Given the description of an element on the screen output the (x, y) to click on. 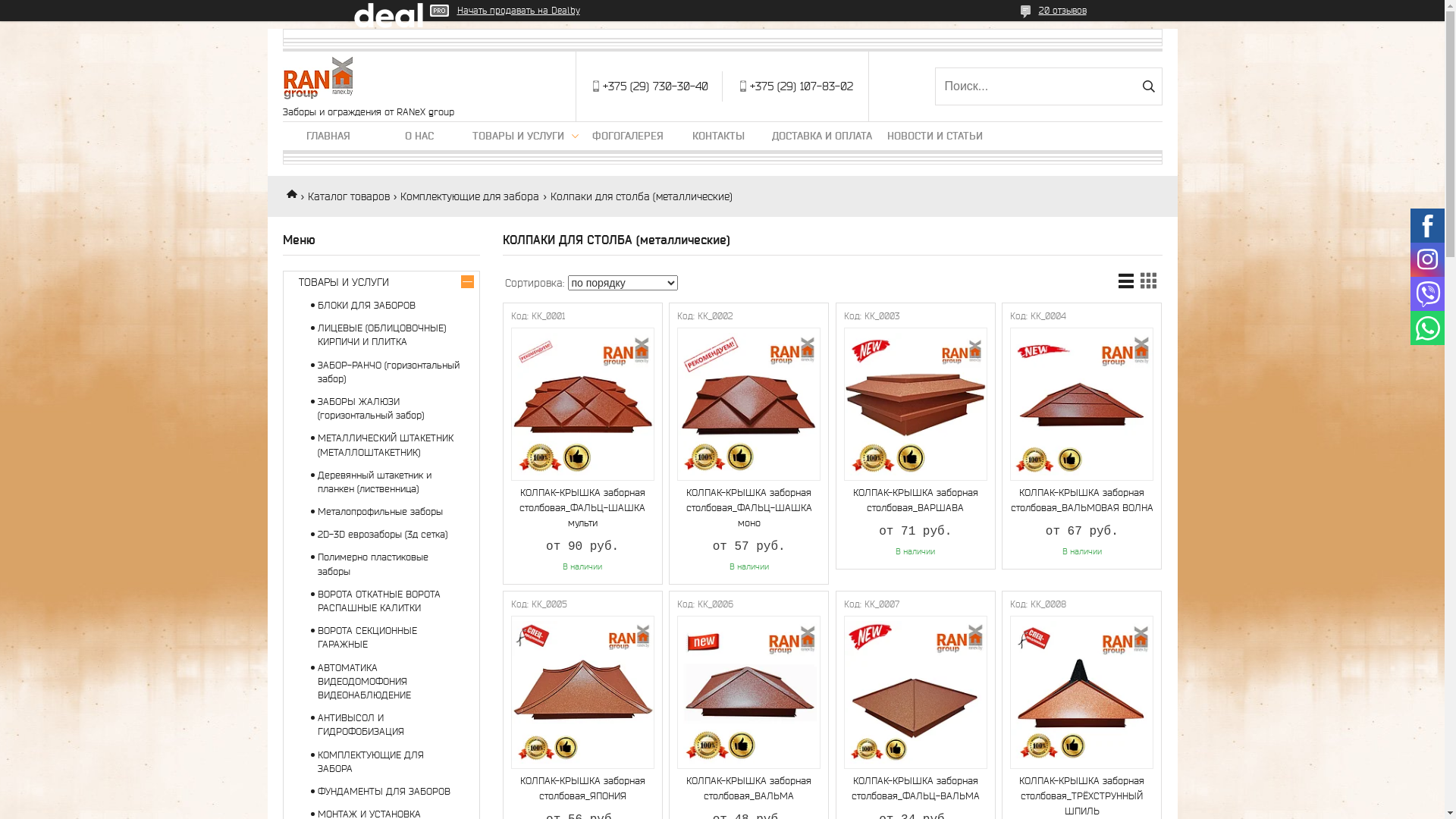
shop.ranex.by Element type: hover (318, 78)
Shop.ranex.by Element type: hover (296, 192)
